Given the description of an element on the screen output the (x, y) to click on. 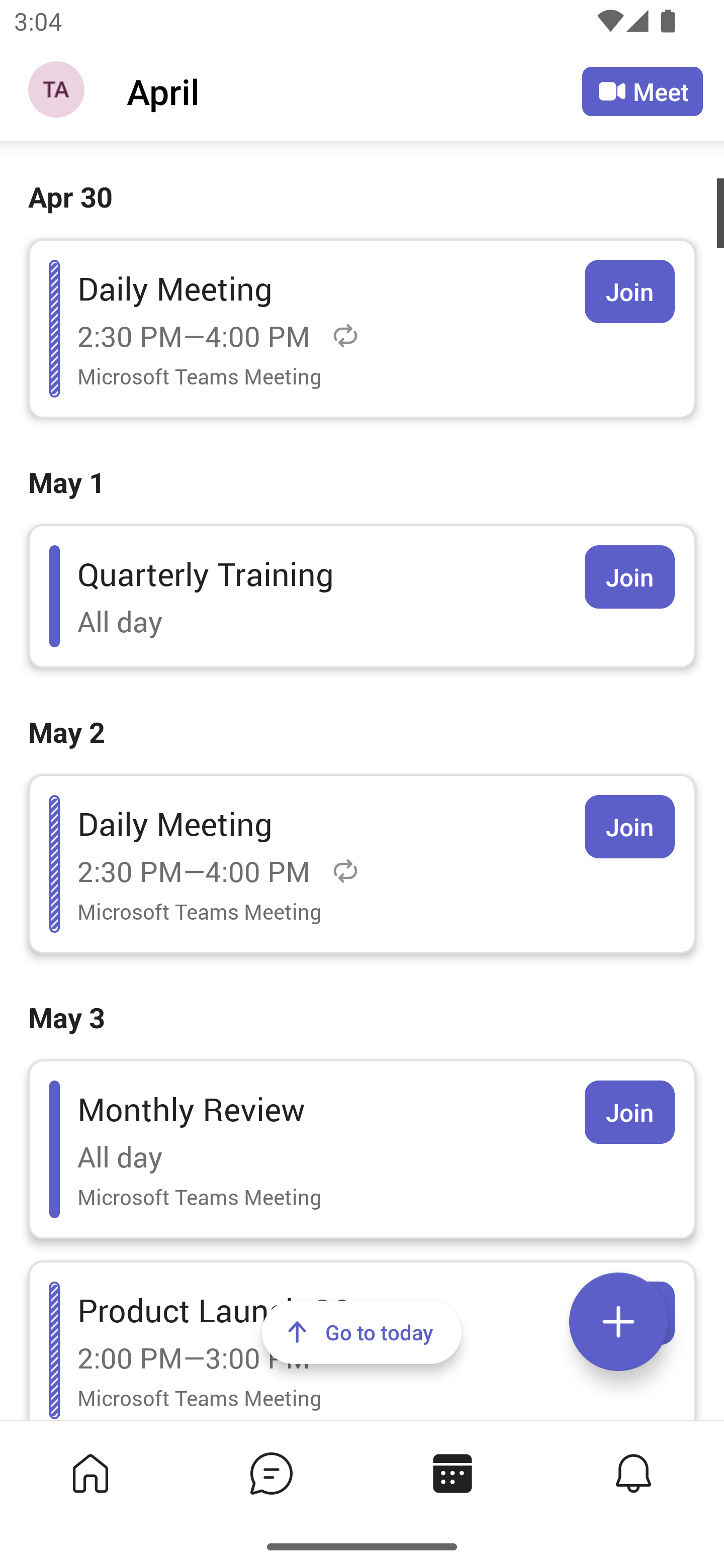
Navigation (58, 91)
Meet Meet now or join with an ID (642, 91)
April April Calendar Agenda View (354, 90)
Join (629, 291)
Join (629, 576)
Join (629, 825)
Join (629, 1111)
Expand meetings menu (618, 1321)
Go to today (361, 1331)
Home tab,1 of 4, not selected (90, 1472)
Chat tab,2 of 4, not selected (271, 1472)
Calendar tab, 3 of 4 (452, 1472)
Activity tab,4 of 4, not selected (633, 1472)
